Given the description of an element on the screen output the (x, y) to click on. 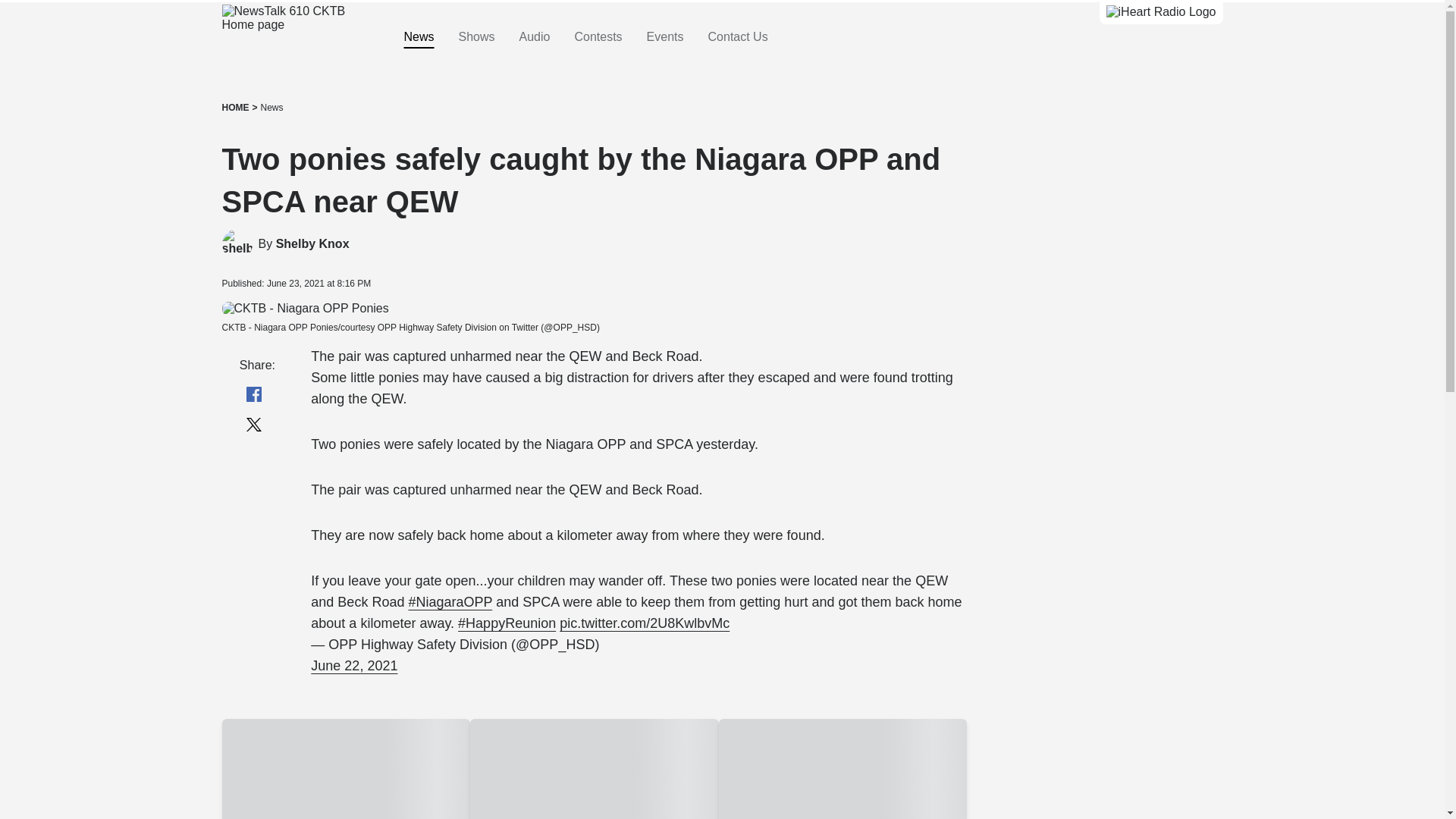
June 22, 2021 (354, 665)
News (271, 107)
Shelby Knox (312, 243)
Contests (597, 37)
Contact Us (737, 37)
Shelby Knox (312, 243)
Shelby Knox (236, 244)
HOME (234, 107)
